Given the description of an element on the screen output the (x, y) to click on. 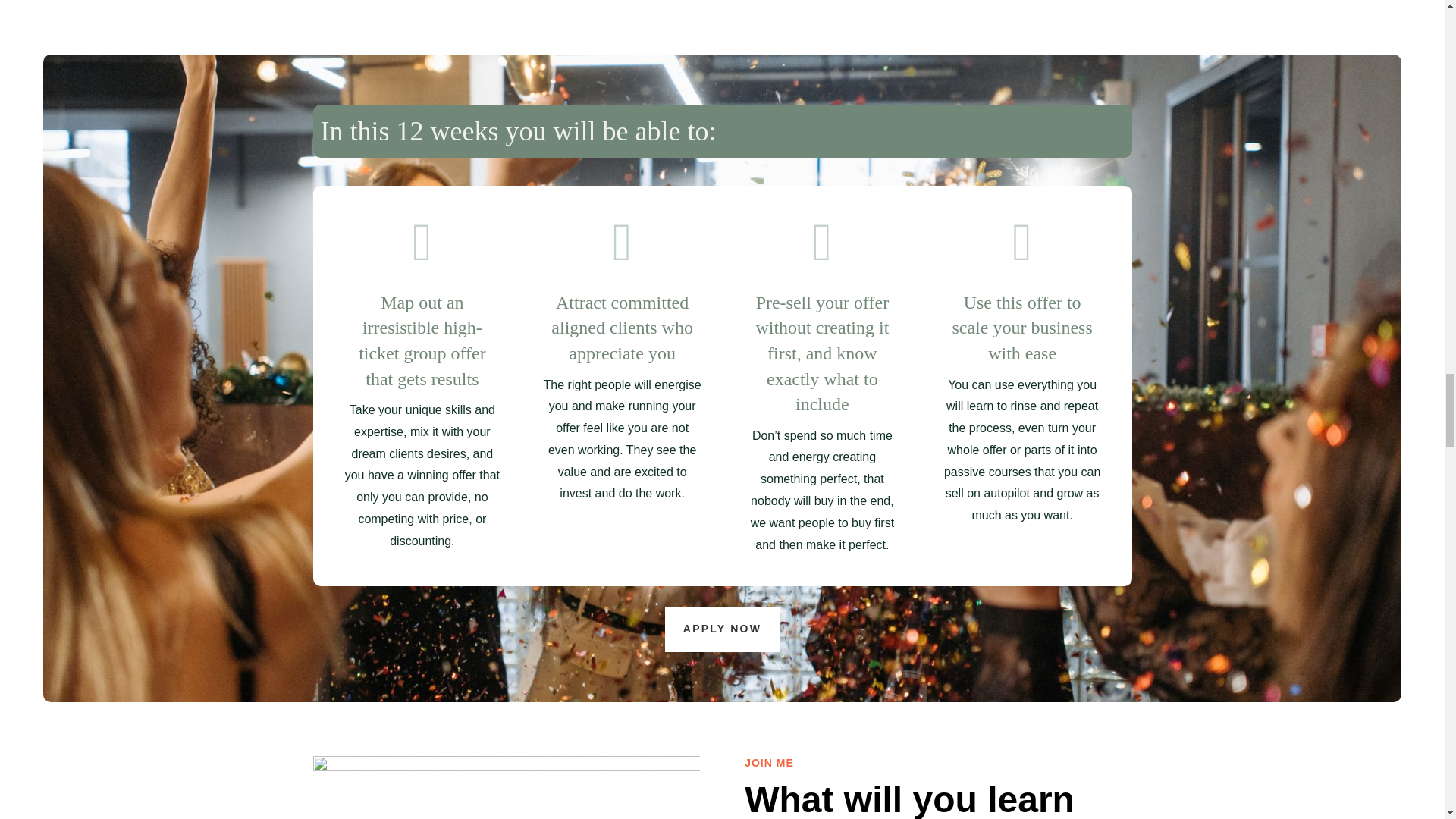
APPLY NOW (721, 628)
